Given the description of an element on the screen output the (x, y) to click on. 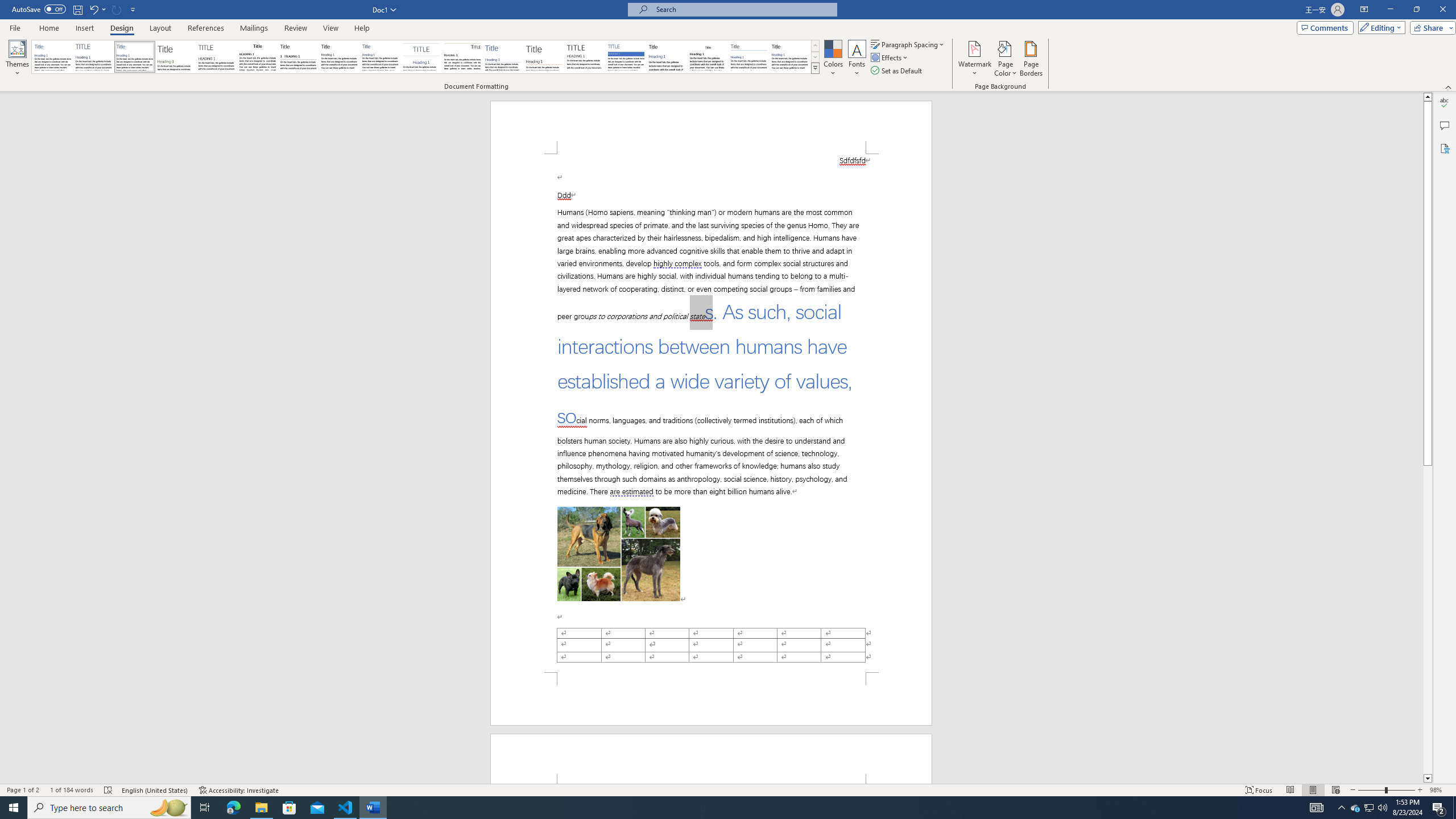
Document (52, 56)
Watermark (974, 58)
Effects (890, 56)
Basic (Simple) (135, 56)
Lines (Simple) (503, 56)
Fonts (856, 58)
Word 2010 (749, 56)
